Given the description of an element on the screen output the (x, y) to click on. 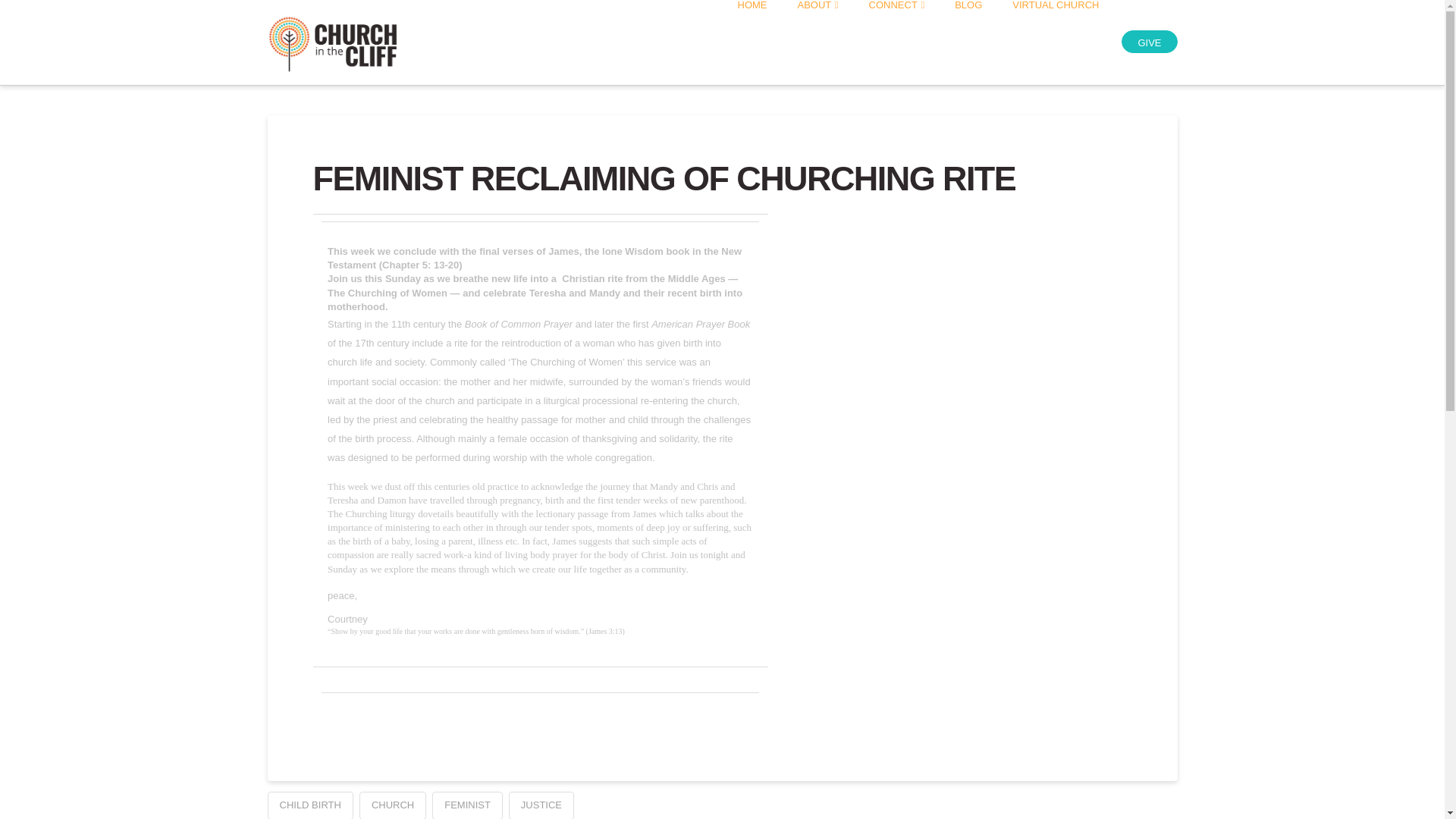
JUSTICE (540, 805)
GIVE (1148, 41)
CHURCH (392, 805)
CHILD BIRTH (309, 805)
VIRTUAL CHURCH (1055, 42)
FEMINIST (467, 805)
CONNECT (896, 42)
